Given the description of an element on the screen output the (x, y) to click on. 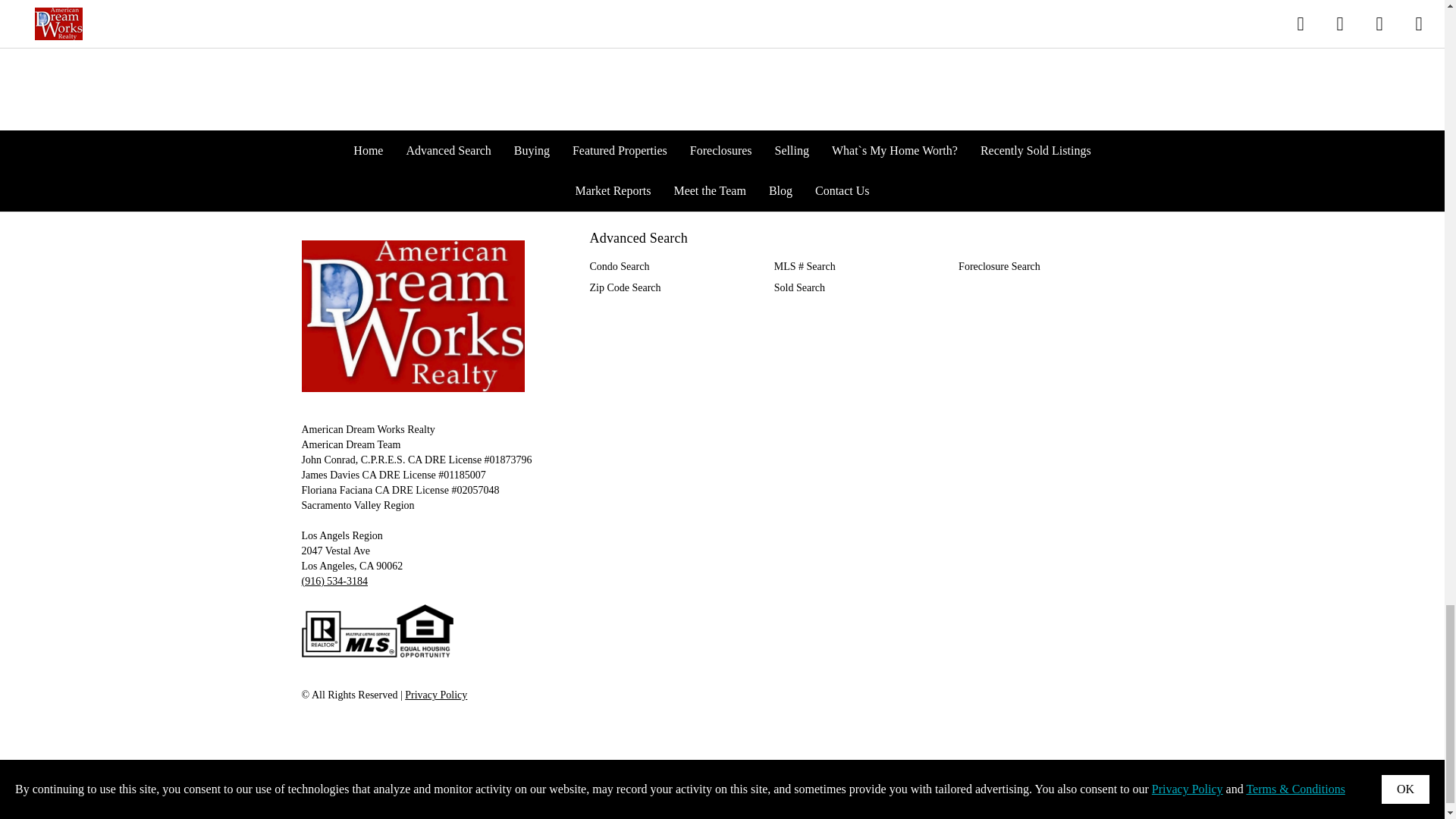
MLS Logo (376, 631)
Logo (412, 316)
Phone Number (334, 581)
